Given the description of an element on the screen output the (x, y) to click on. 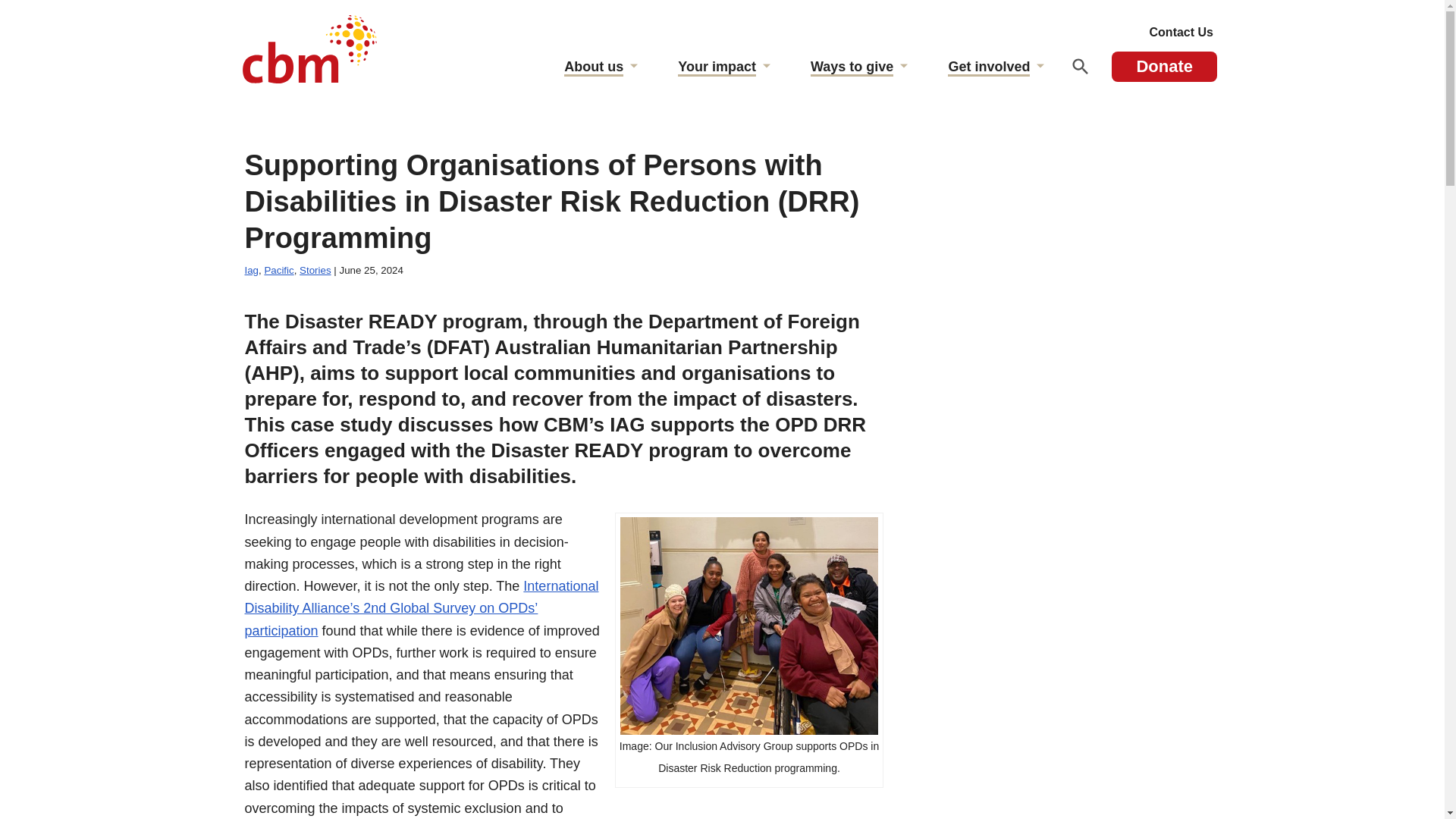
Contact Us (1181, 32)
Your impact (716, 68)
About us (593, 68)
Ways to give (851, 68)
